Given the description of an element on the screen output the (x, y) to click on. 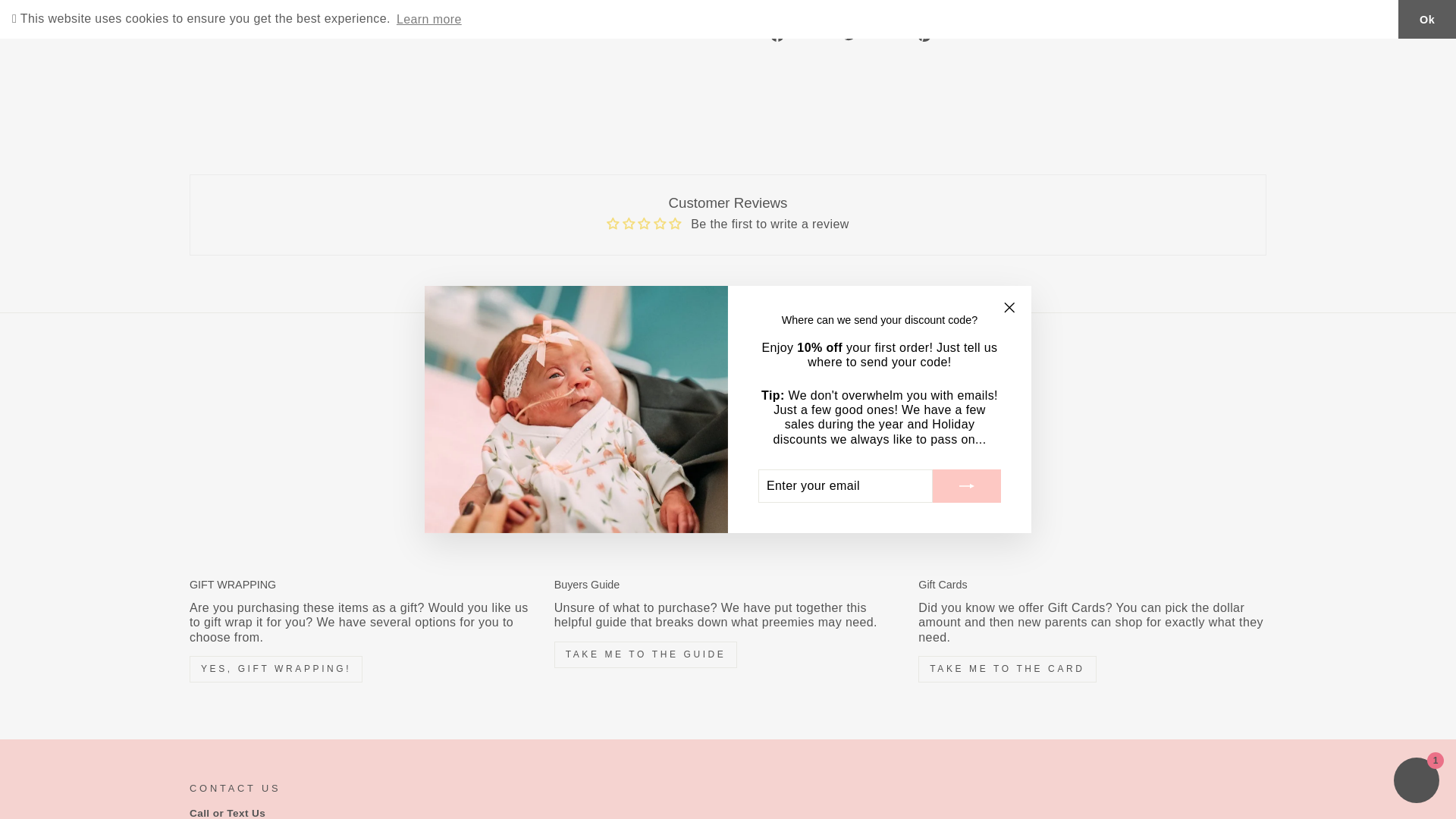
twitter (850, 34)
Tweet on Twitter (874, 34)
